Given the description of an element on the screen output the (x, y) to click on. 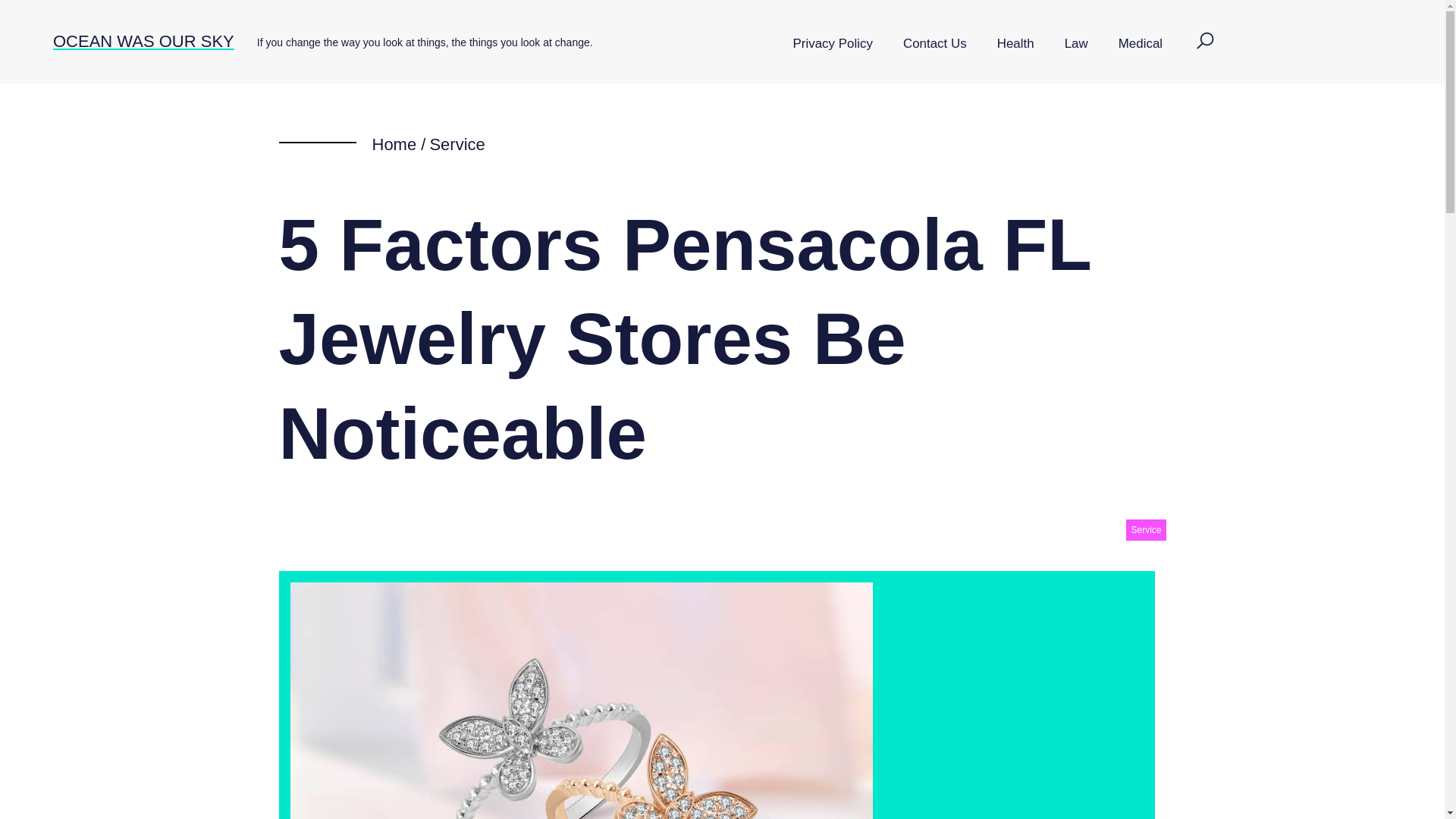
Service (1145, 529)
Health (1015, 43)
Service (456, 144)
Medical (1140, 43)
Privacy Policy (832, 43)
Contact Us (934, 43)
Home (393, 144)
OCEAN WAS OUR SKY (143, 40)
